Given the description of an element on the screen output the (x, y) to click on. 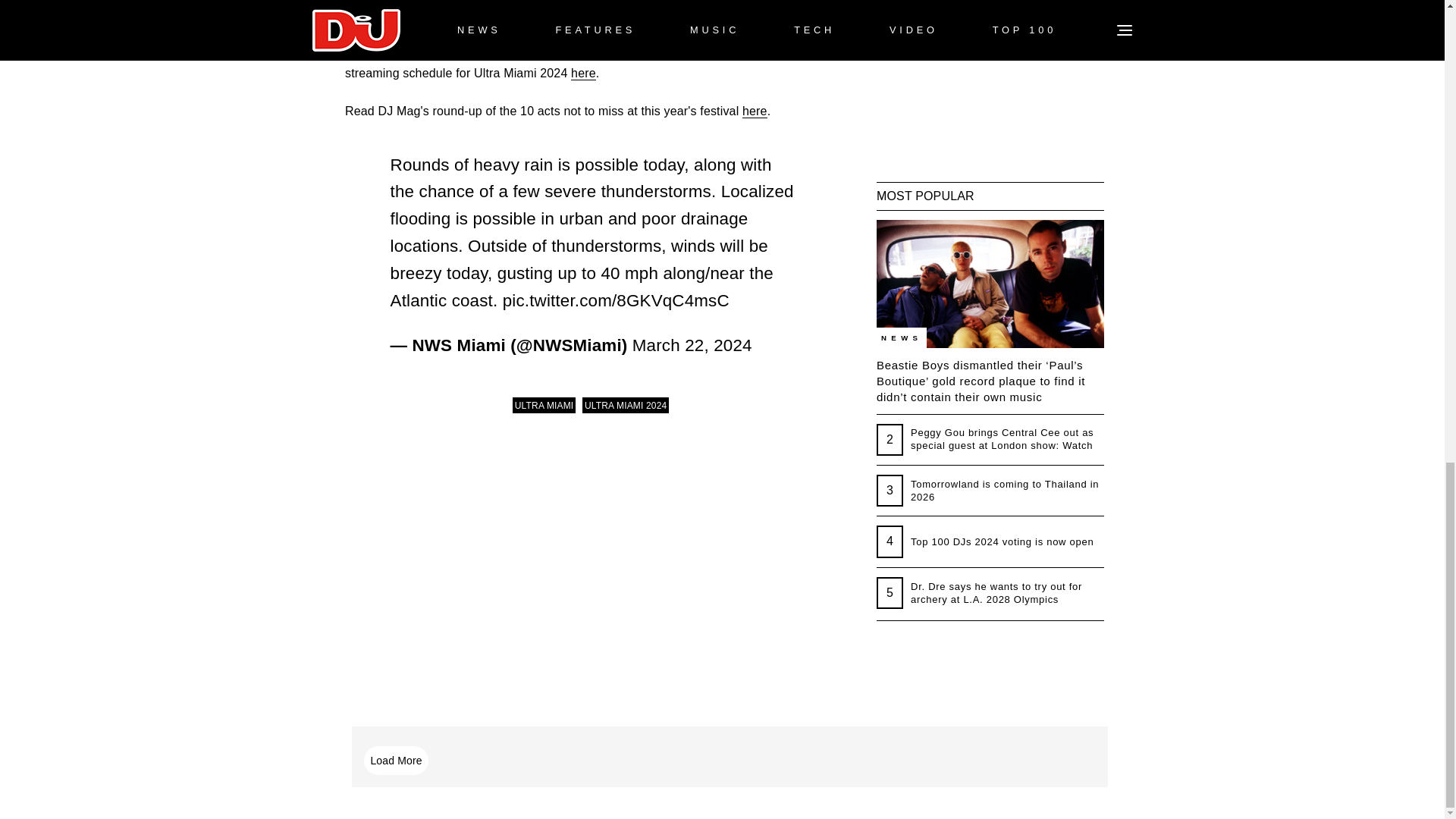
Load more items (396, 760)
10 unmissable acts at Ultra Miami 2024 (754, 110)
Ultra Miami 2024 set times and streaming schedule announced (582, 73)
